Given the description of an element on the screen output the (x, y) to click on. 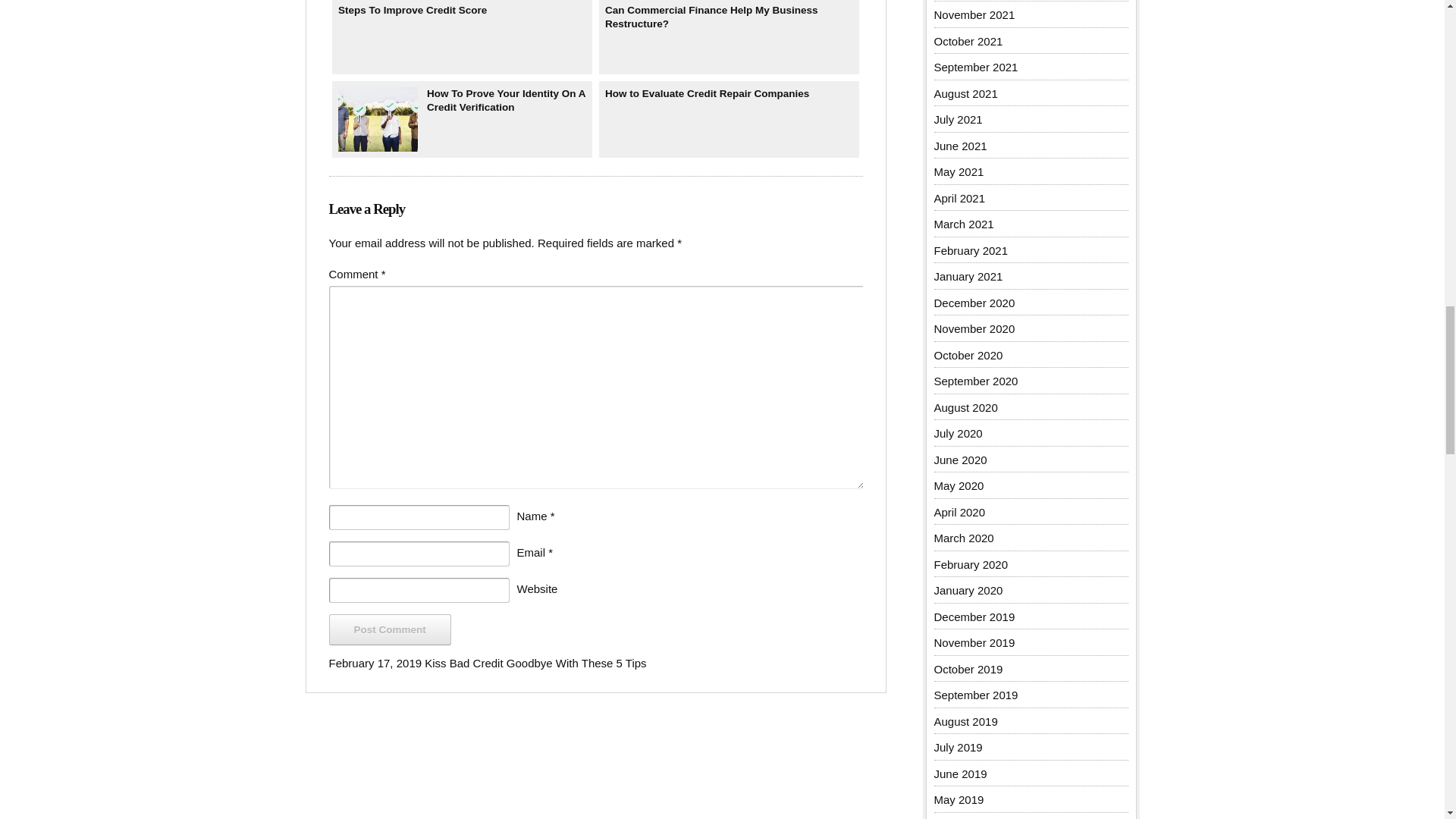
Post Comment (390, 629)
Steps To Improve Credit Score (461, 37)
Can Commercial Finance Help My Business Restructure? (729, 37)
Post Comment (390, 629)
How to Evaluate Credit Repair Companies (729, 119)
How To Prove Your Identity On A Credit Verification (461, 119)
